Given the description of an element on the screen output the (x, y) to click on. 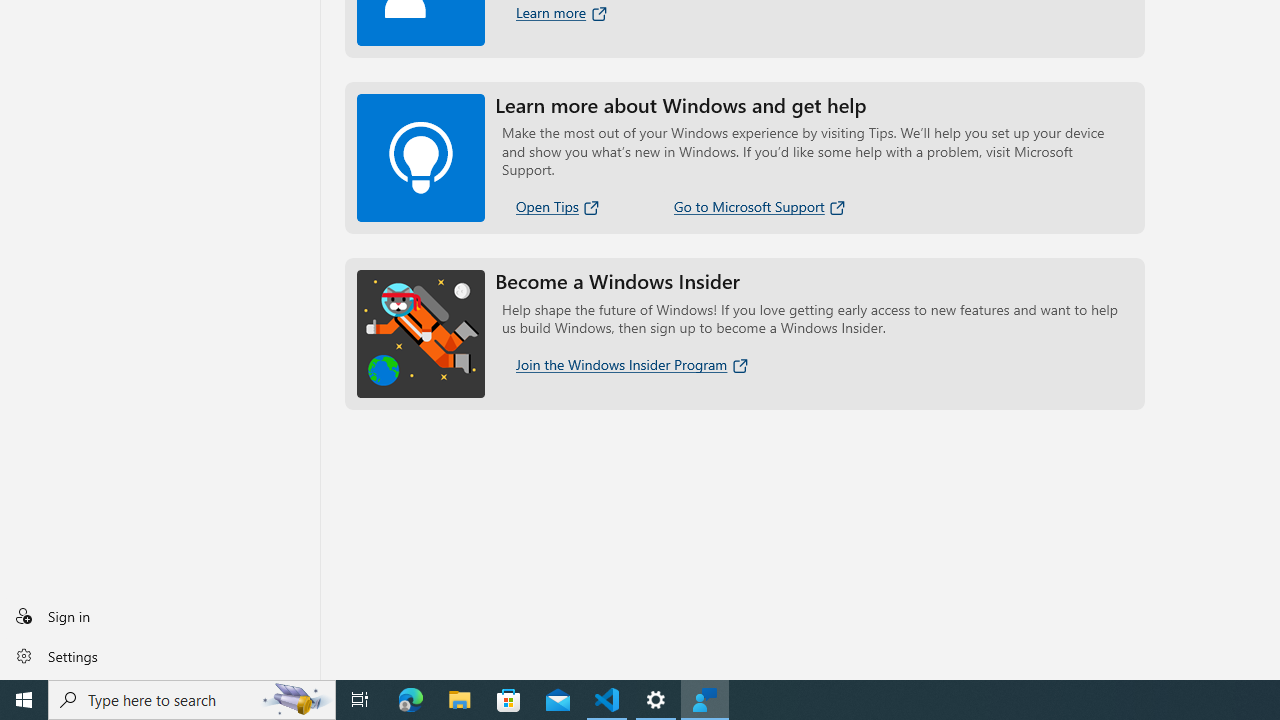
File Explorer (460, 699)
Join the Windows Insider Program (633, 364)
Feedback Hub - 1 running window (704, 699)
Go to Microsoft Support (760, 206)
Task View (359, 699)
Microsoft Edge (411, 699)
Microsoft Store (509, 699)
Type here to search (191, 699)
Visual Studio Code - 1 running window (607, 699)
Settings (159, 655)
Open Tips (559, 206)
Start (24, 699)
Settings - 1 running window (656, 699)
Sign in (159, 616)
